Given the description of an element on the screen output the (x, y) to click on. 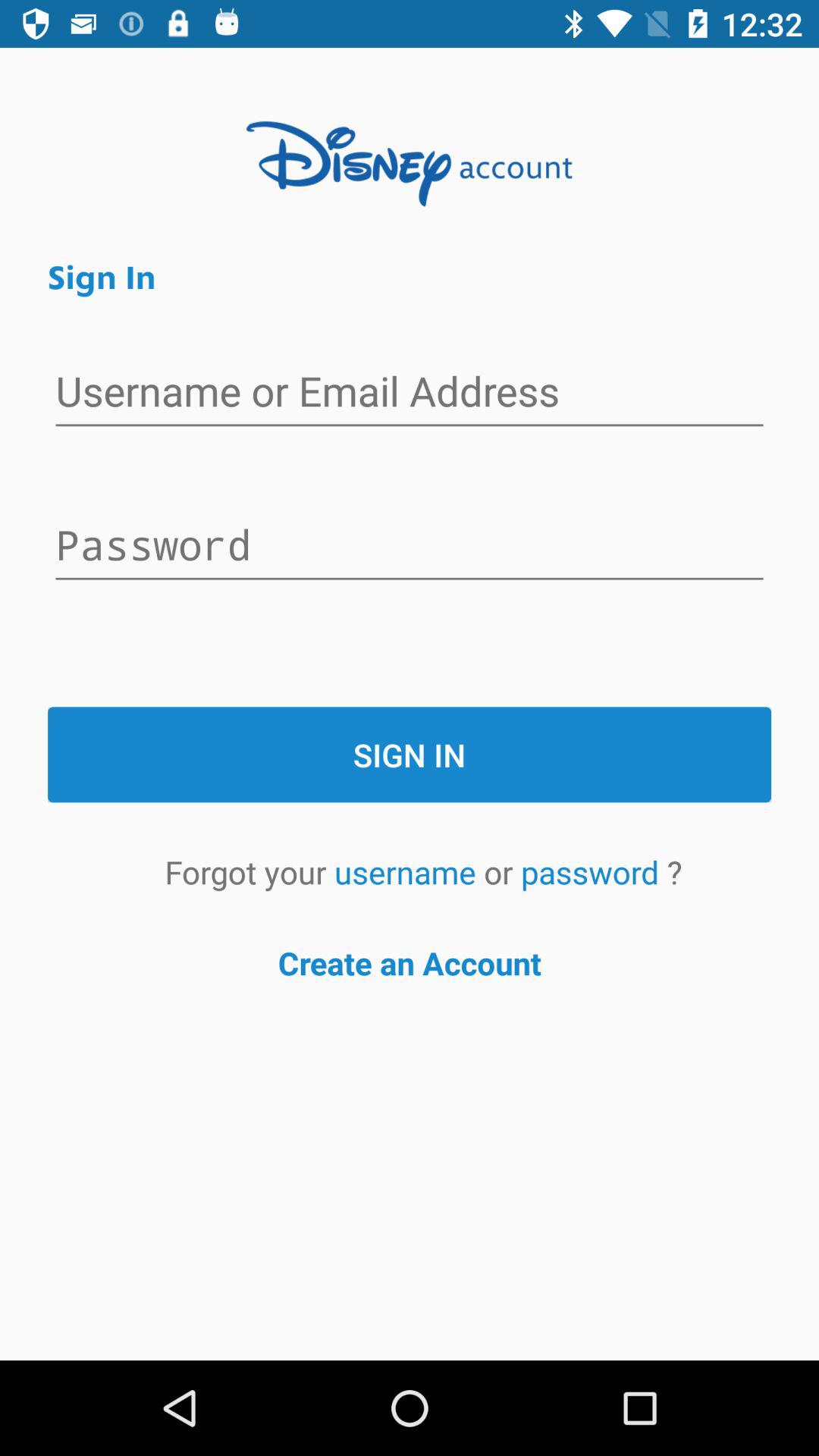
jump to the create an account item (409, 962)
